Given the description of an element on the screen output the (x, y) to click on. 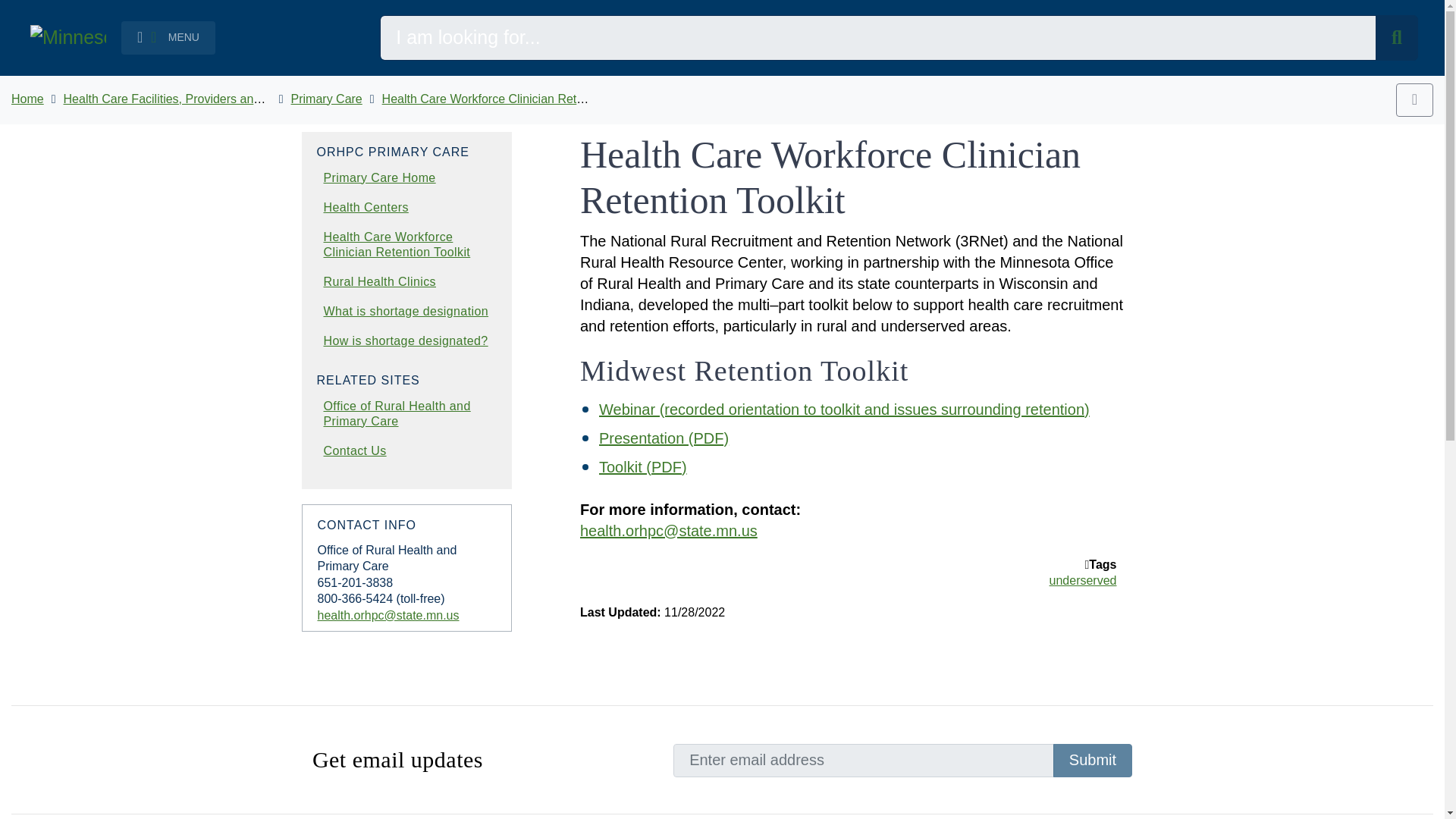
Home (27, 98)
Primary Care (326, 98)
Primary Care (326, 98)
Primary Care Home (379, 177)
Rural Health Clinics (379, 280)
Search MDH site (1396, 37)
Health Care Facilities, Providers and Insurance (190, 98)
Health Care Workforce Clinician Retention Toolkit (514, 98)
Health Centers (365, 205)
Health Care Workforce Clinician Retention Toolkit (514, 98)
